Given the description of an element on the screen output the (x, y) to click on. 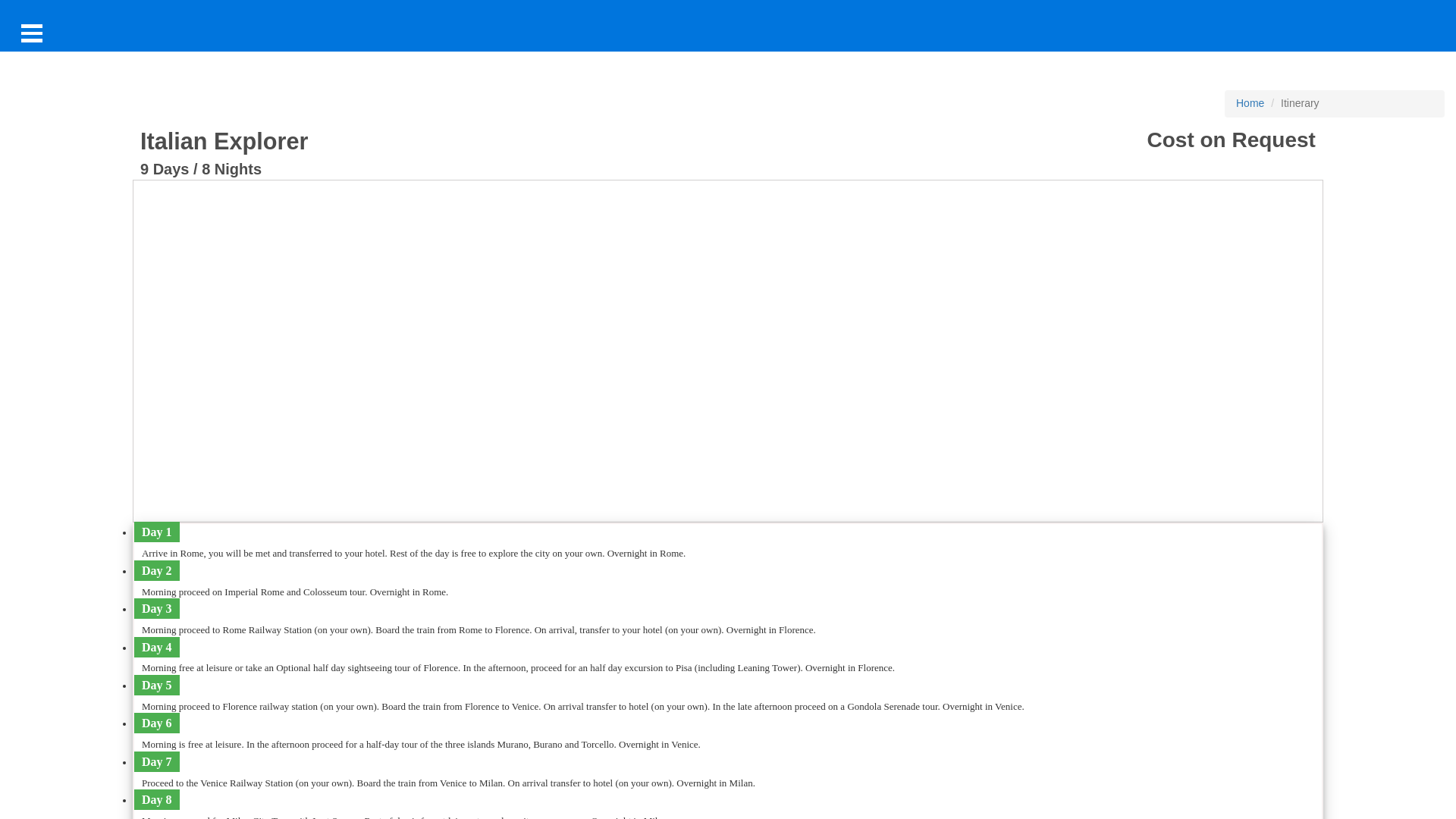
O (31, 33)
Home (1249, 102)
